Given the description of an element on the screen output the (x, y) to click on. 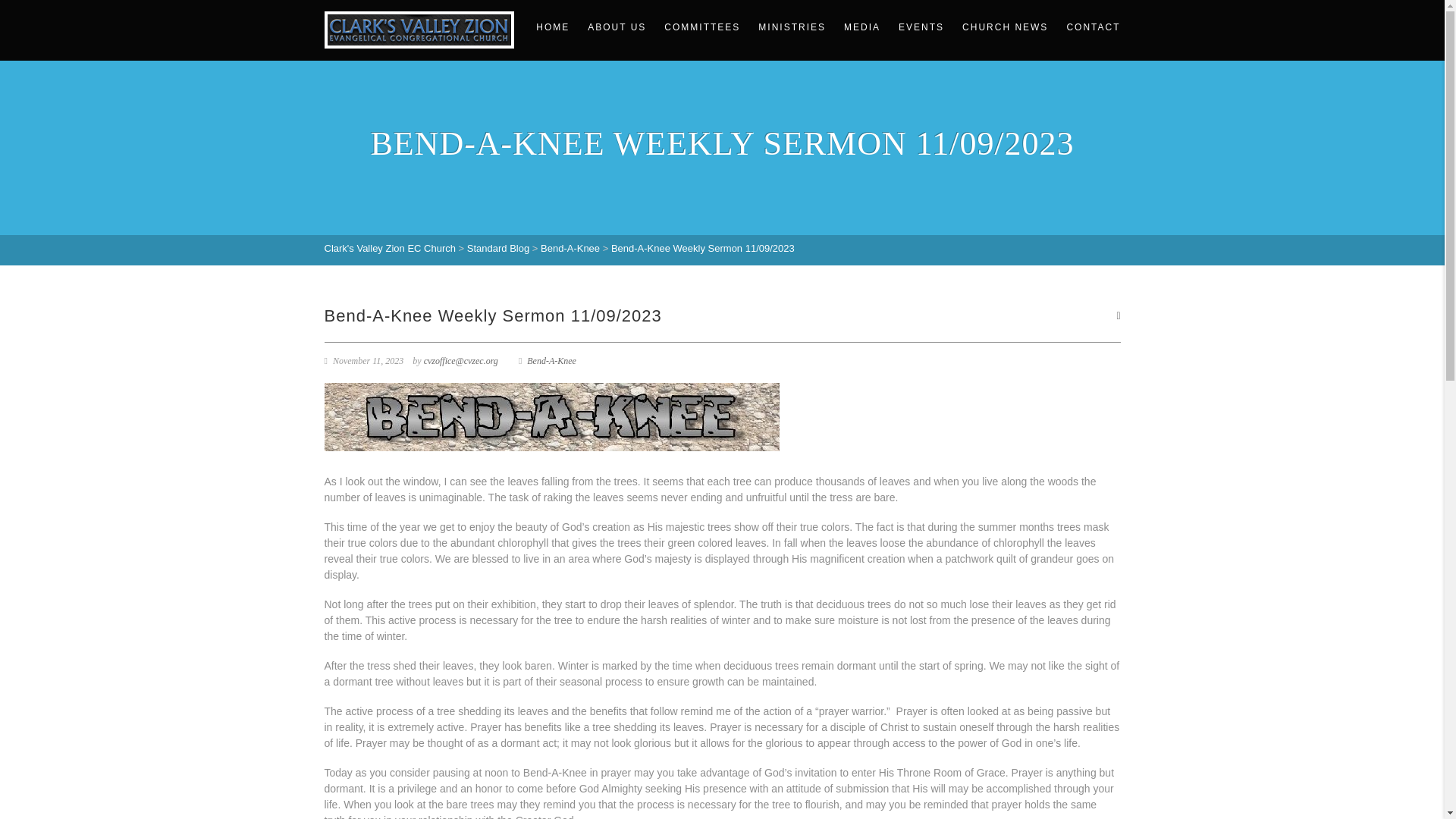
Logo (418, 29)
Clark's Valley Zion EC Church (389, 247)
ABOUT US (616, 27)
EVENTS (921, 27)
Go to Clark's Valley Zion EC Church. (389, 247)
Go to the Bend-A-Knee Category archives. (569, 247)
COMMITTEES (702, 27)
MEDIA (861, 27)
CONTACT (1088, 27)
MINISTRIES (791, 27)
Go to Standard Blog. (498, 247)
HOME (552, 27)
CHURCH NEWS (1005, 27)
